Given the description of an element on the screen output the (x, y) to click on. 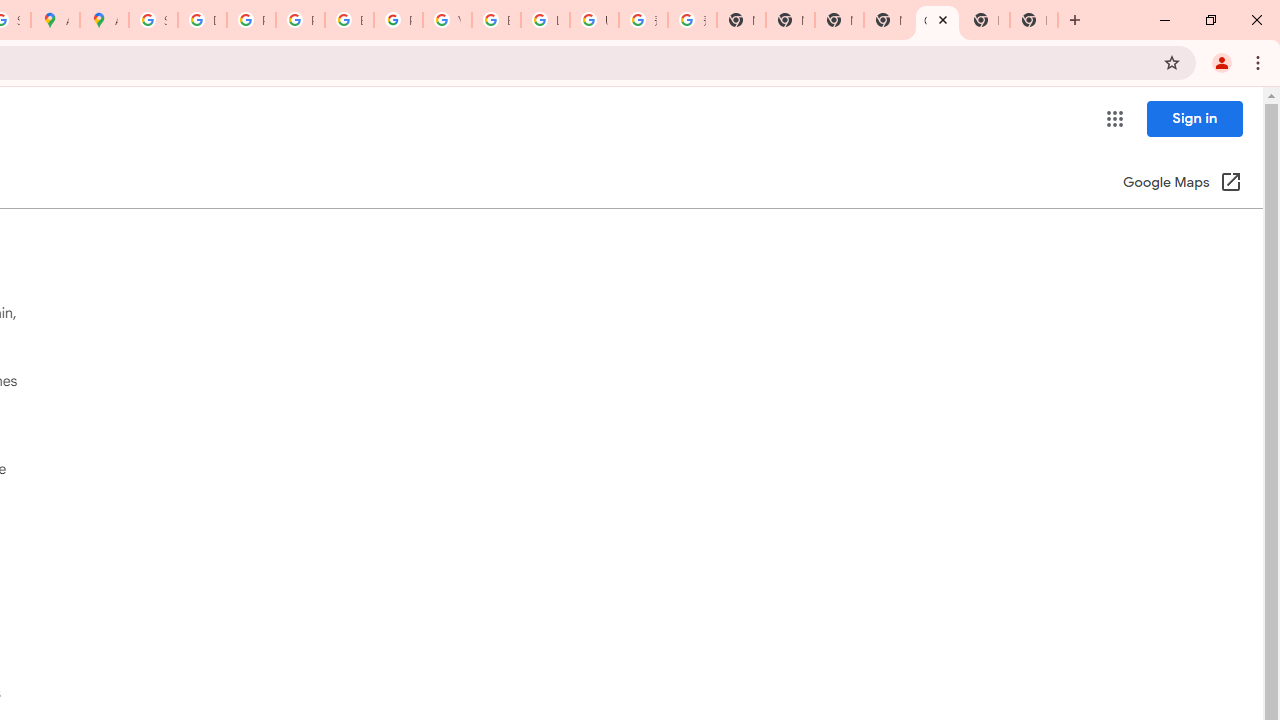
Privacy Help Center - Policies Help (251, 20)
Privacy Help Center - Policies Help (300, 20)
New Tab (985, 20)
